Given the description of an element on the screen output the (x, y) to click on. 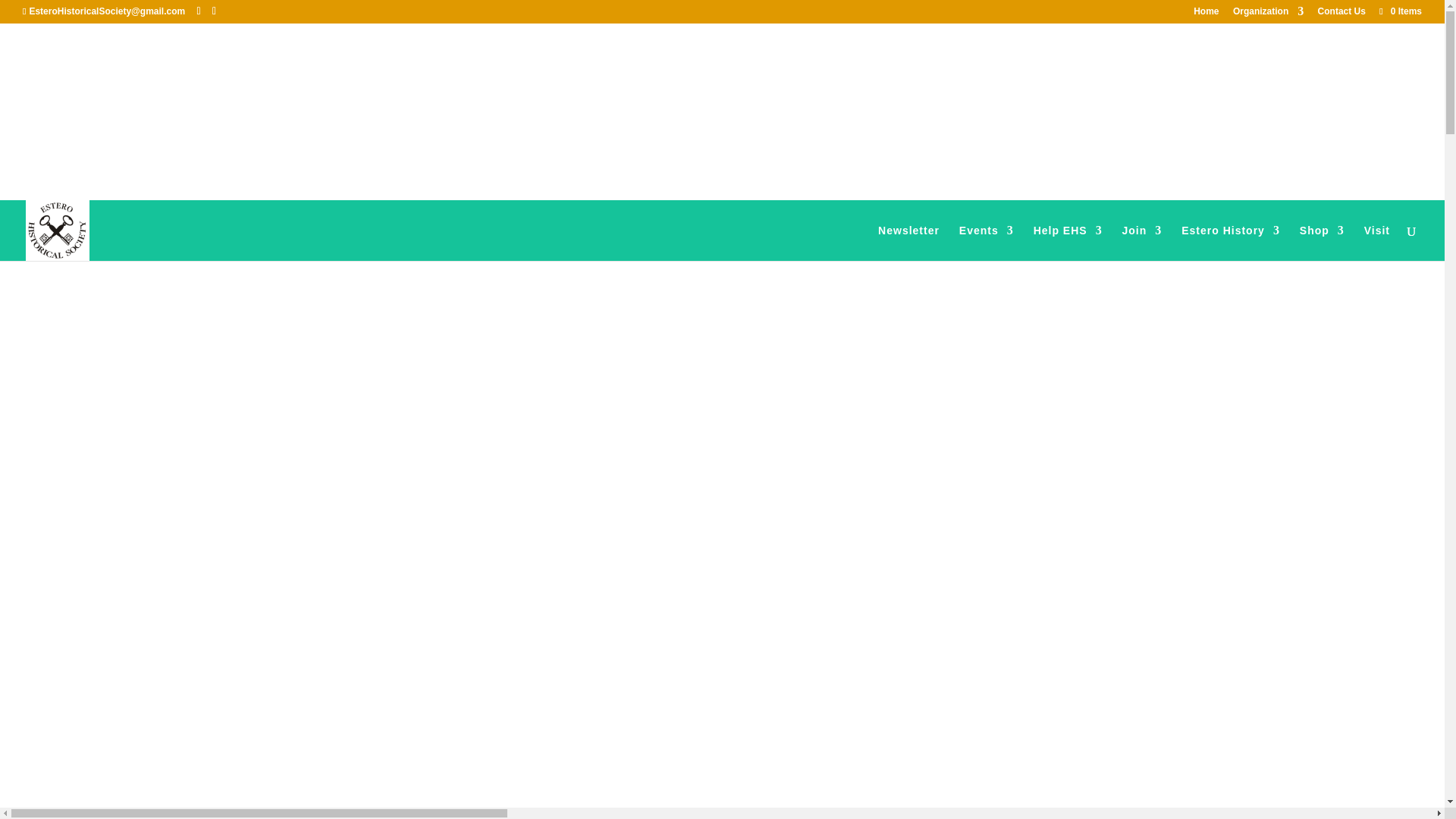
0 Items (1399, 10)
Help EHS (1067, 243)
Estero History (1229, 243)
Contact Us (1341, 14)
Shop (1321, 243)
Newsletter (908, 243)
Home (1205, 14)
Events (986, 243)
Join (1141, 243)
Organization (1268, 14)
